Given the description of an element on the screen output the (x, y) to click on. 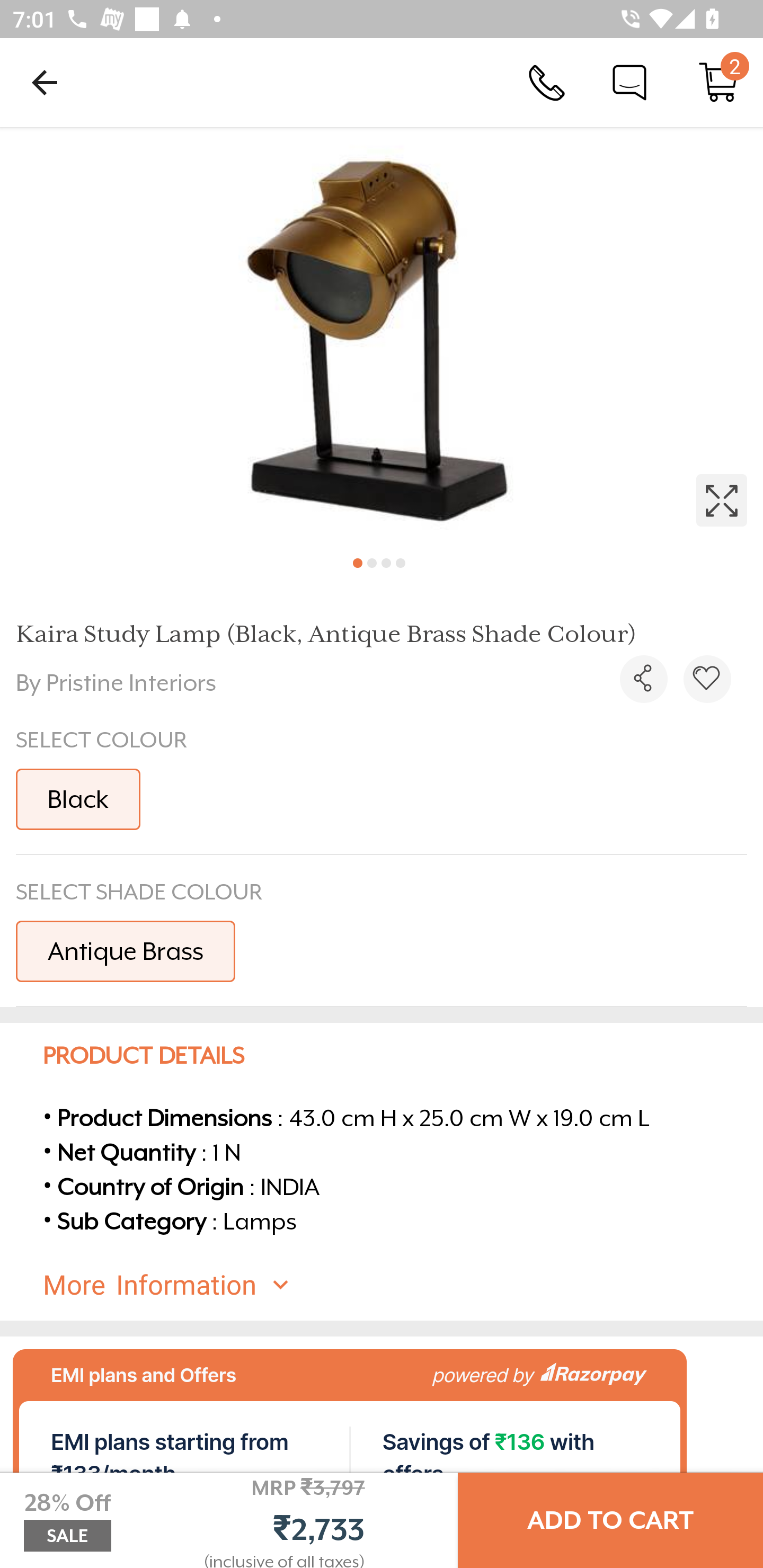
Navigate up (44, 82)
Call Us (546, 81)
Chat (629, 81)
Cart (718, 81)
 (381, 334)
 (643, 678)
 (706, 678)
Black (78, 798)
Antique Brass (125, 950)
More Information  (396, 1284)
ADD TO CART (610, 1520)
